Given the description of an element on the screen output the (x, y) to click on. 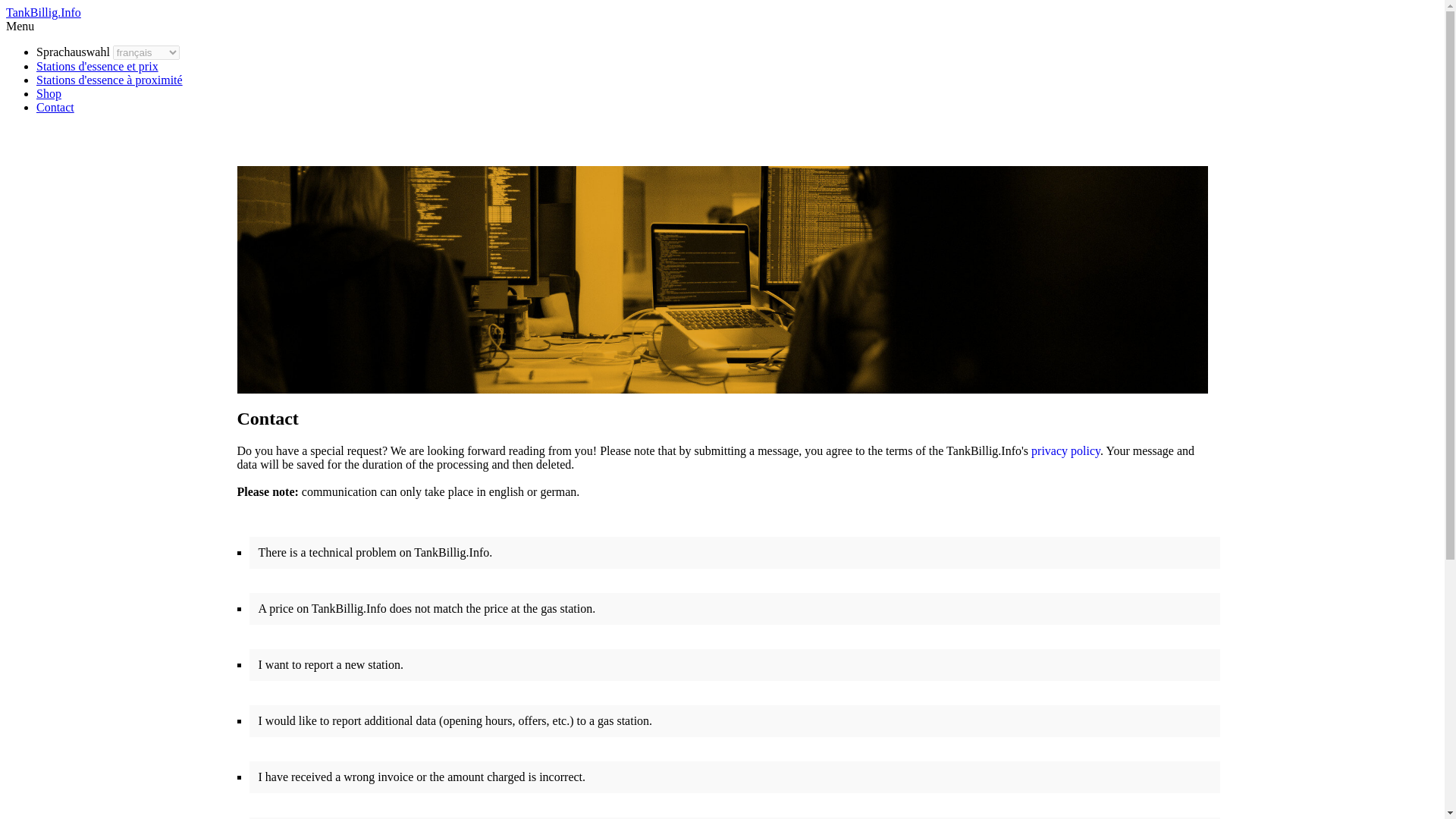
Stations d'essence et prix (97, 65)
Contact (55, 106)
Shop (48, 92)
privacy policy (1065, 450)
